Given the description of an element on the screen output the (x, y) to click on. 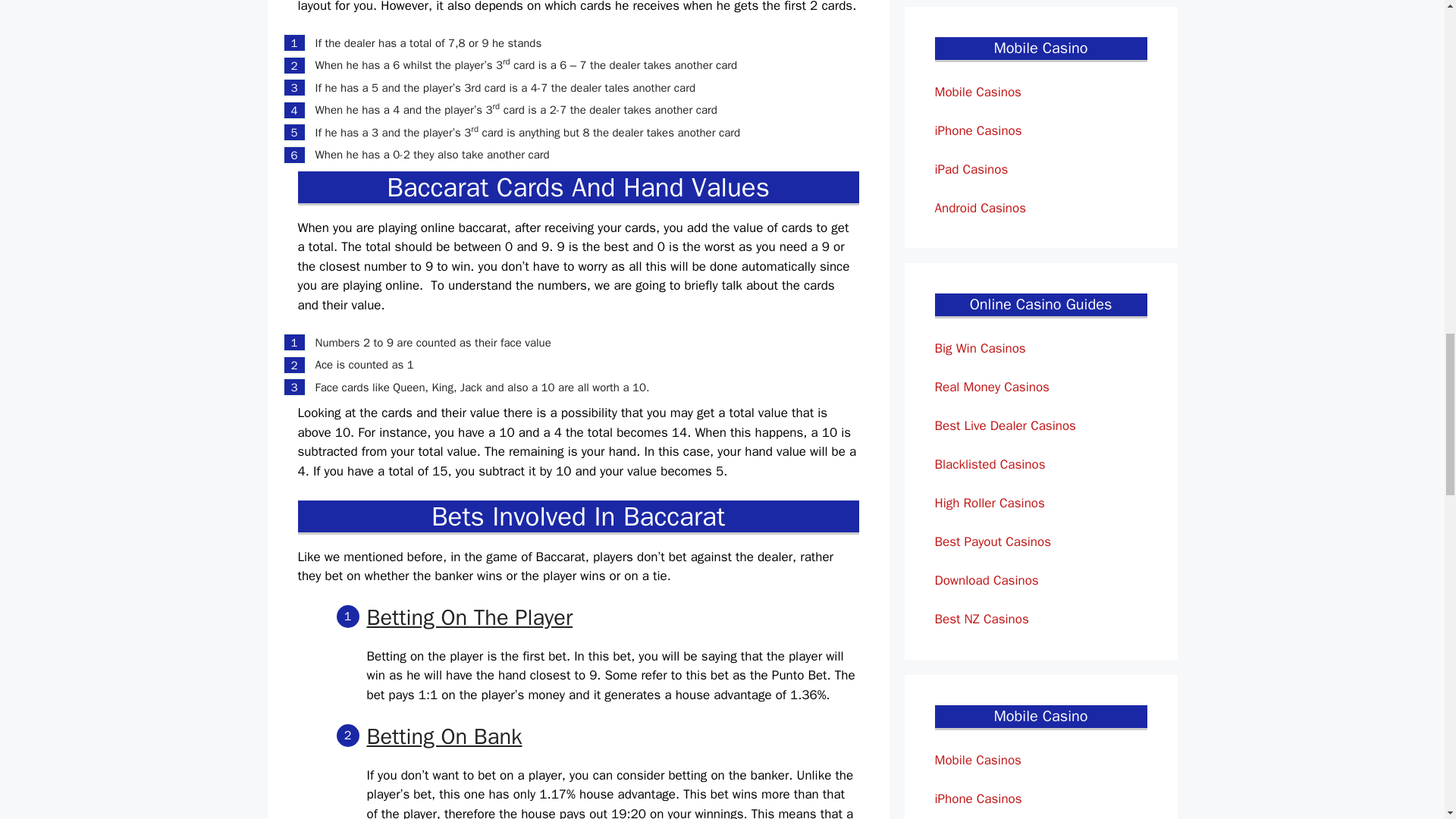
Bets Involved In Baccarat (578, 516)
Baccarat Cards And Hand Values (578, 187)
